Given the description of an element on the screen output the (x, y) to click on. 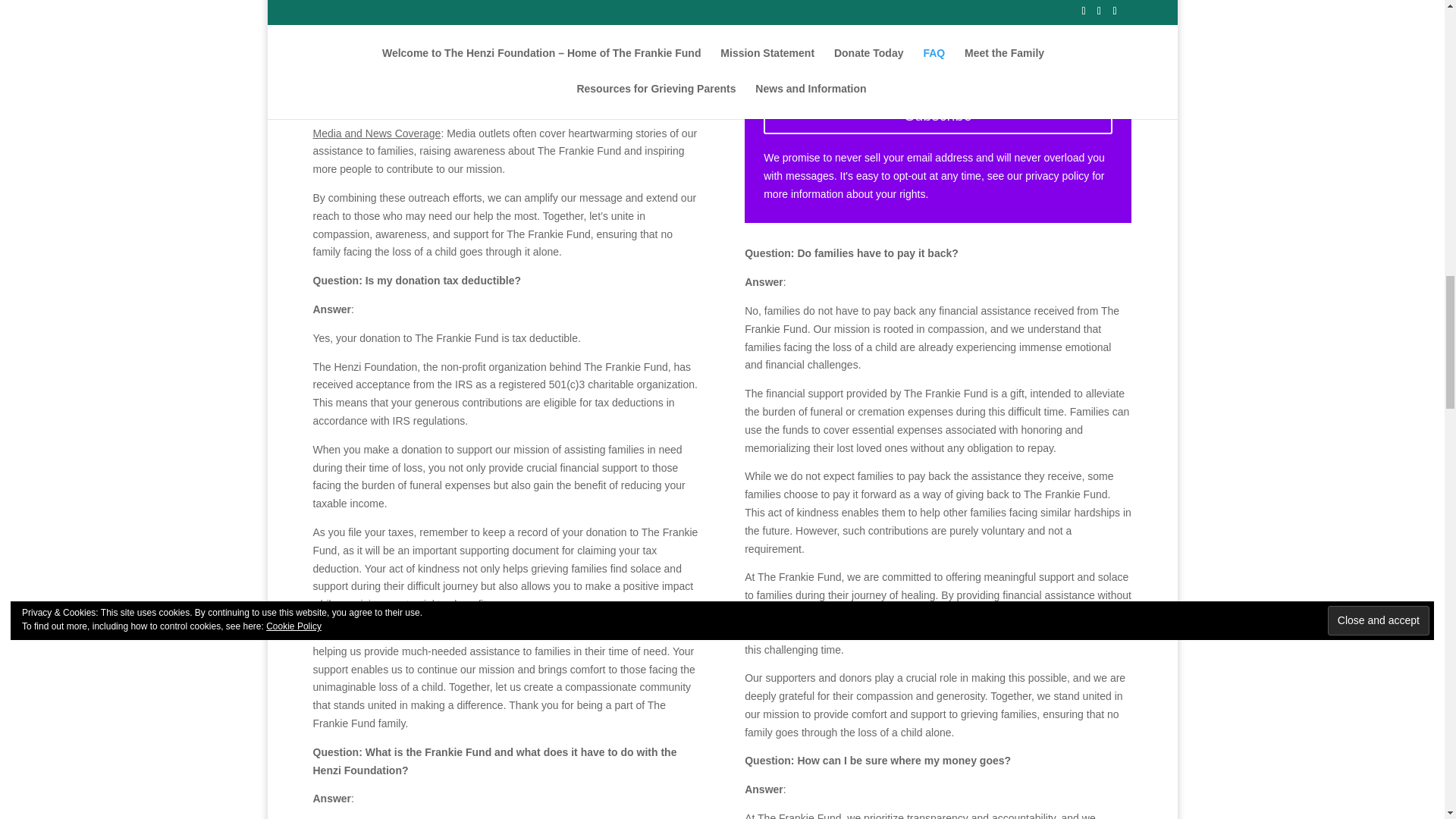
Subscribe (937, 115)
